Given the description of an element on the screen output the (x, y) to click on. 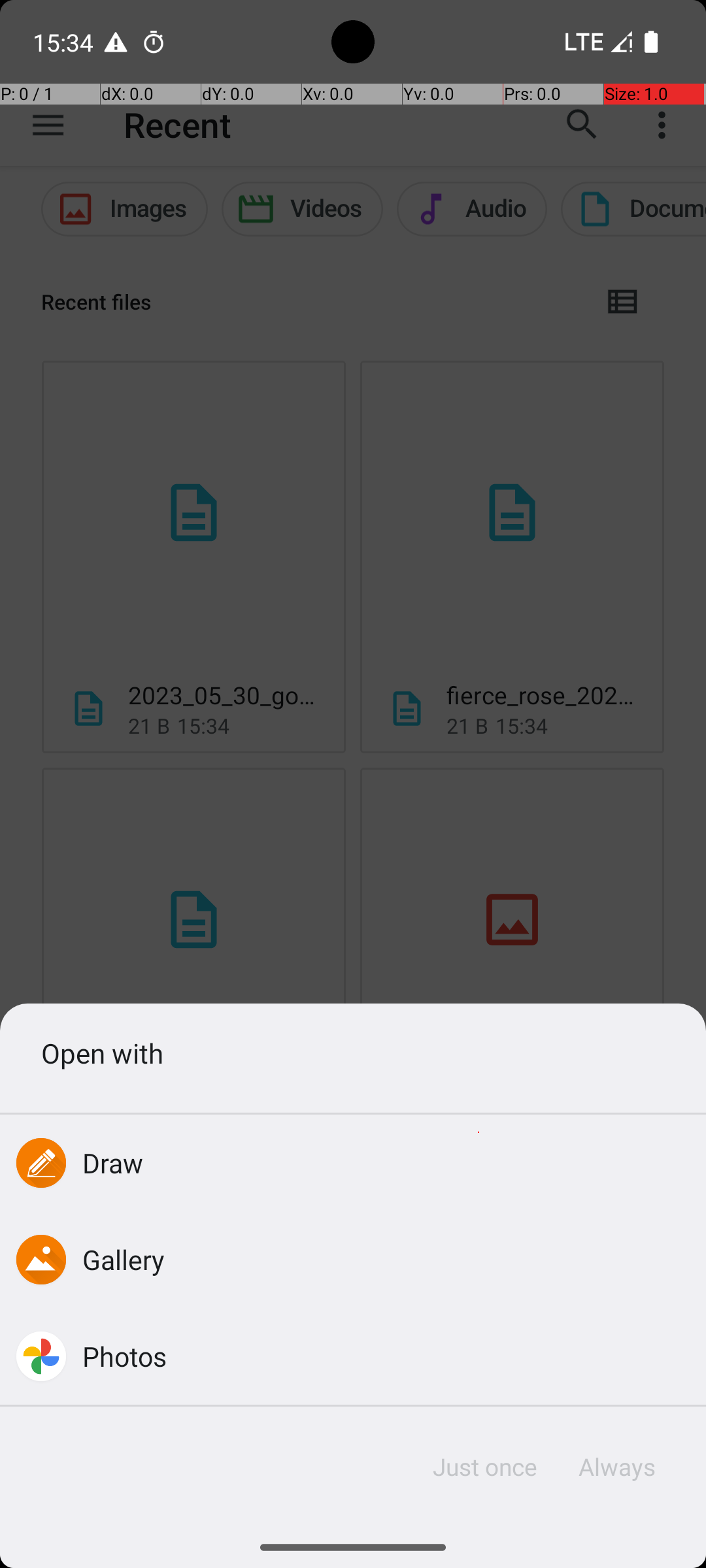
Open with Element type: android.widget.TextView (352, 1052)
Just once Element type: android.widget.Button (484, 1466)
Always Element type: android.widget.Button (616, 1466)
Draw Element type: android.widget.TextView (112, 1162)
Gallery Element type: android.widget.TextView (123, 1258)
